Given the description of an element on the screen output the (x, y) to click on. 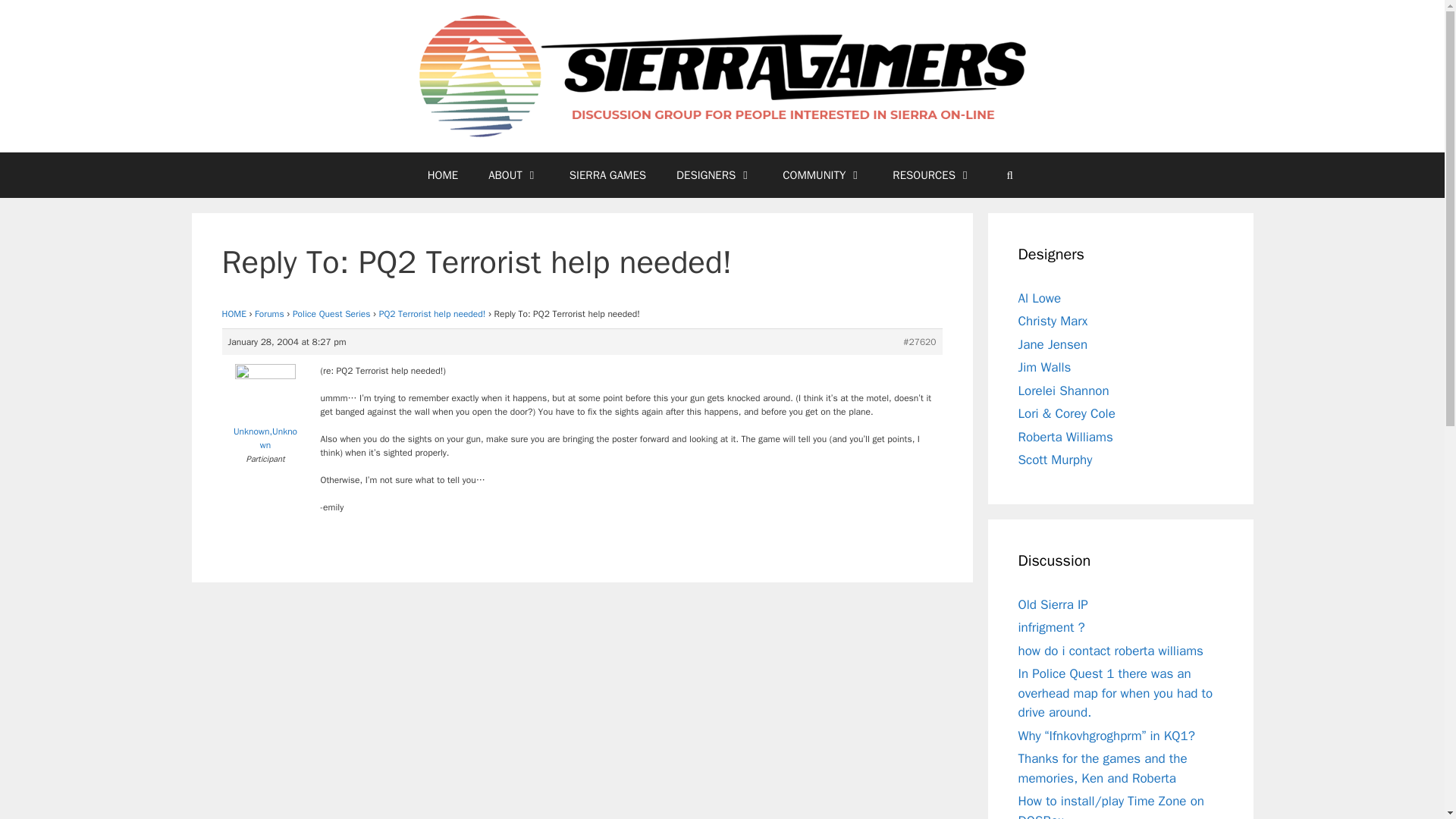
Forums (268, 313)
Al Lowe (1039, 298)
Christy Marx (1052, 320)
Police Quest Series (331, 313)
HOME (233, 313)
COMMUNITY (822, 175)
PQ2 Terrorist help needed! (432, 313)
View Unknown,Unknown's profile (264, 411)
Unknown,Unknown (264, 411)
SIERRA GAMES (607, 175)
HOME (442, 175)
RESOURCES (932, 175)
ABOUT (513, 175)
DESIGNERS (714, 175)
